Given the description of an element on the screen output the (x, y) to click on. 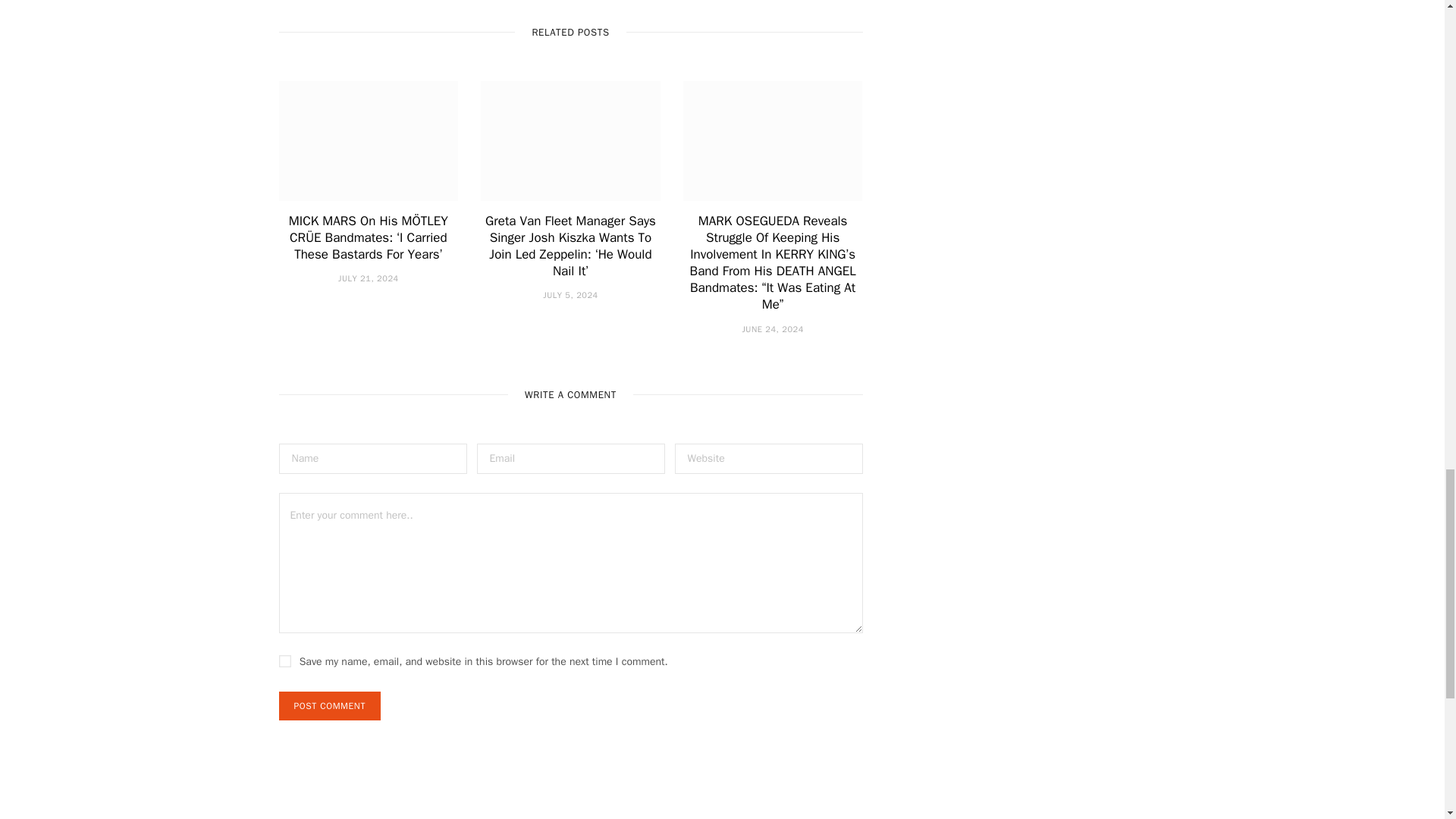
JULY 21, 2024 (367, 277)
yes (285, 661)
Post Comment (329, 705)
JUNE 24, 2024 (772, 327)
JULY 5, 2024 (570, 294)
